Given the description of an element on the screen output the (x, y) to click on. 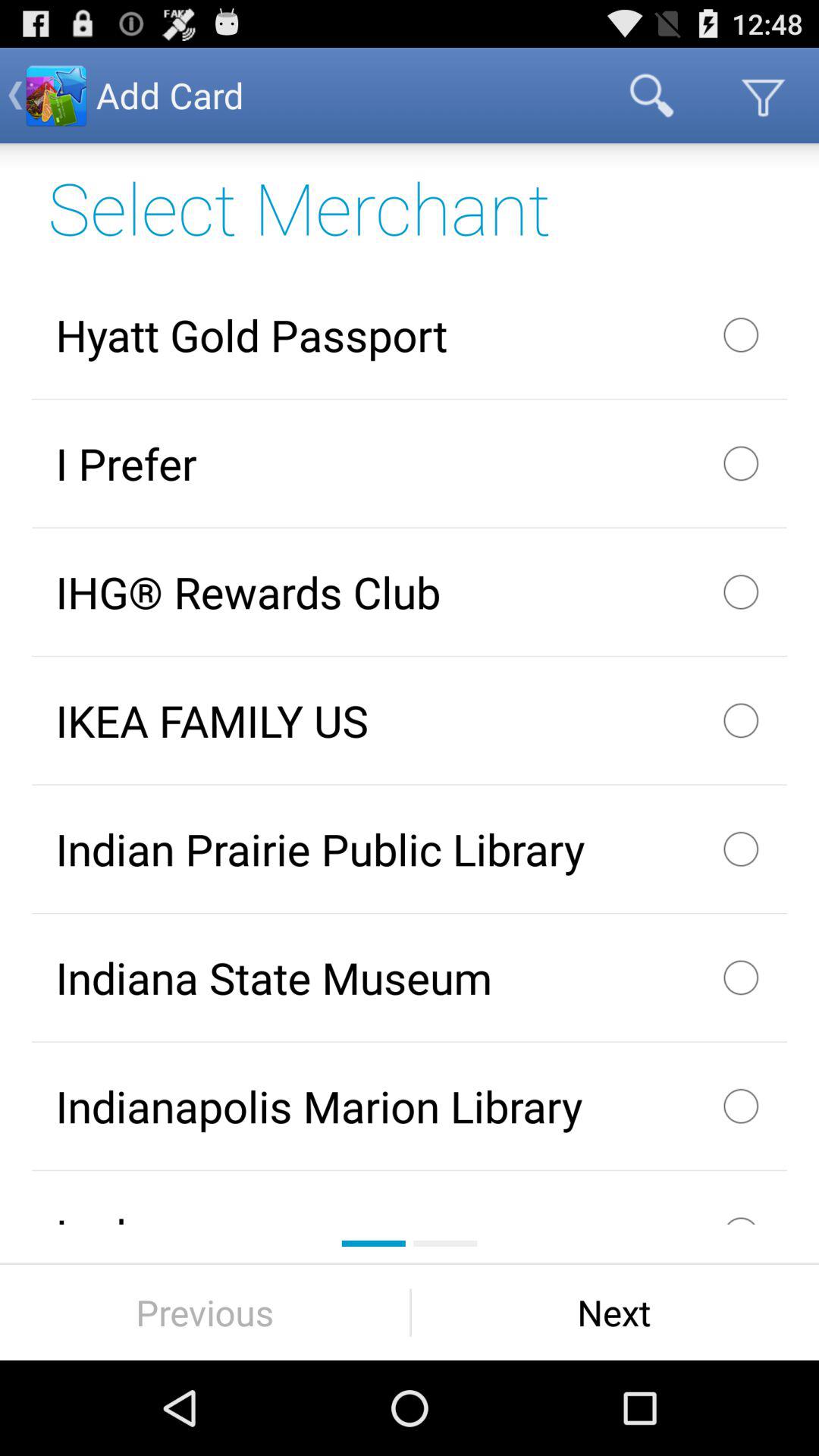
choose icon below the hyatt gold passport (409, 463)
